Given the description of an element on the screen output the (x, y) to click on. 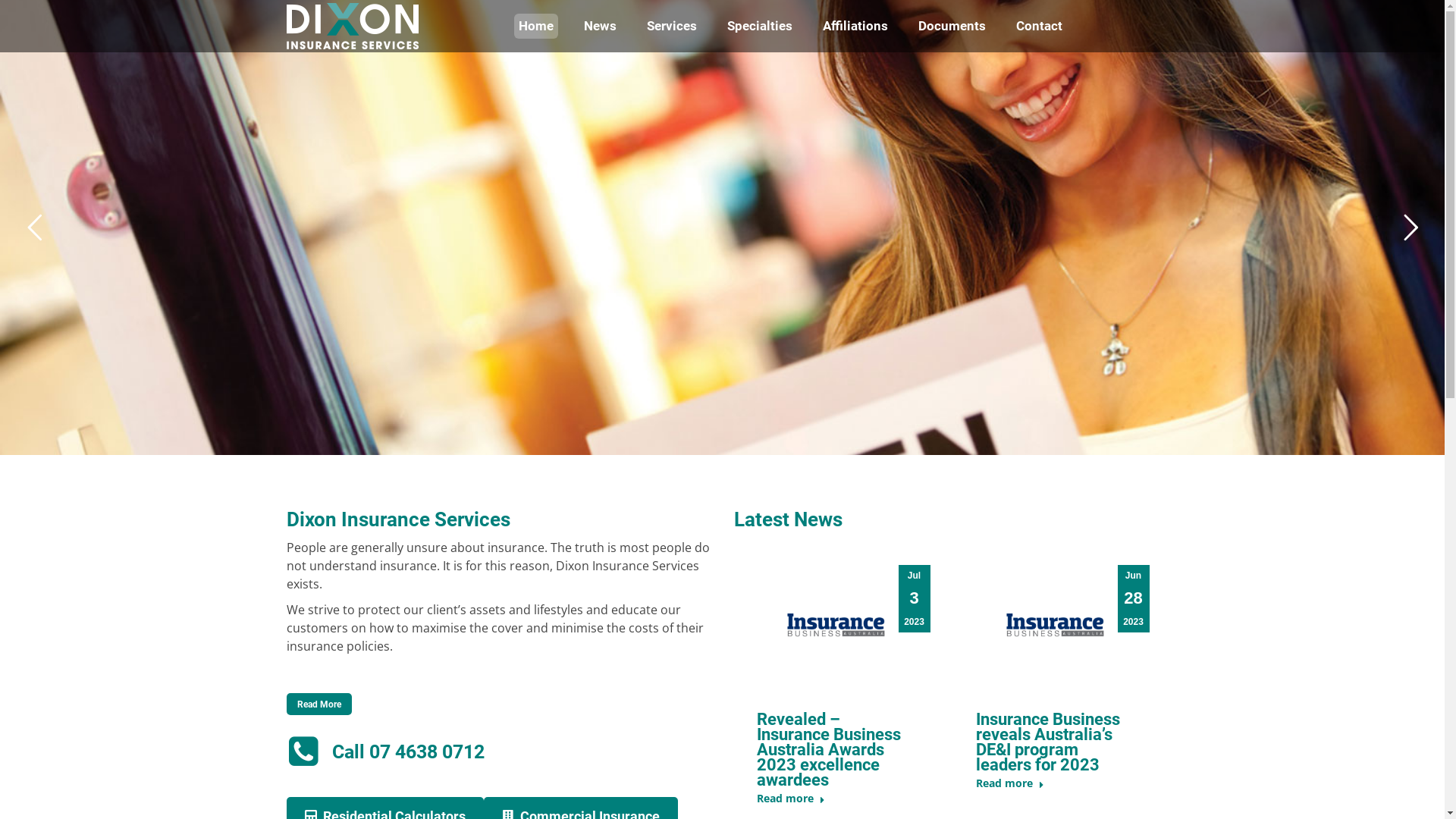
Documents Element type: text (951, 25)
Services Element type: text (670, 25)
Affiliations Element type: text (854, 25)
Read more Element type: text (1009, 786)
Read More Element type: text (318, 704)
Contact Element type: text (1038, 25)
Read more Element type: text (790, 801)
Specialties Element type: text (758, 25)
Jul
3
2023 Element type: text (913, 598)
Home Element type: text (536, 25)
Jun
28
2023 Element type: text (1133, 598)
News Element type: text (600, 25)
